Given the description of an element on the screen output the (x, y) to click on. 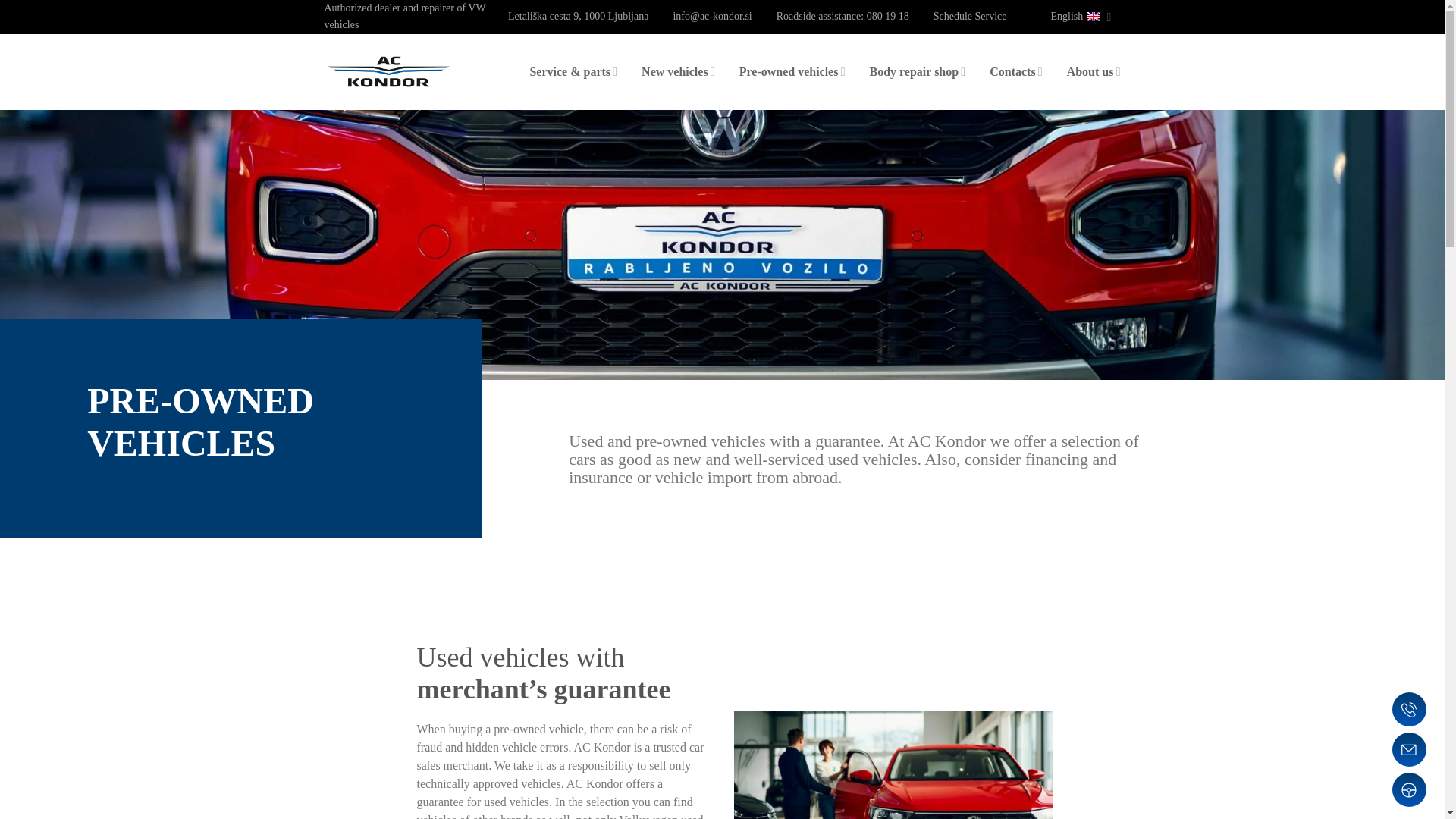
English (1086, 16)
080 19 18 (887, 16)
Body repair shop (917, 71)
AC Kondor - AC Kondor (388, 71)
Schedule Service (970, 16)
New vehicles (678, 71)
Pre-owned vehicles (792, 71)
